Given the description of an element on the screen output the (x, y) to click on. 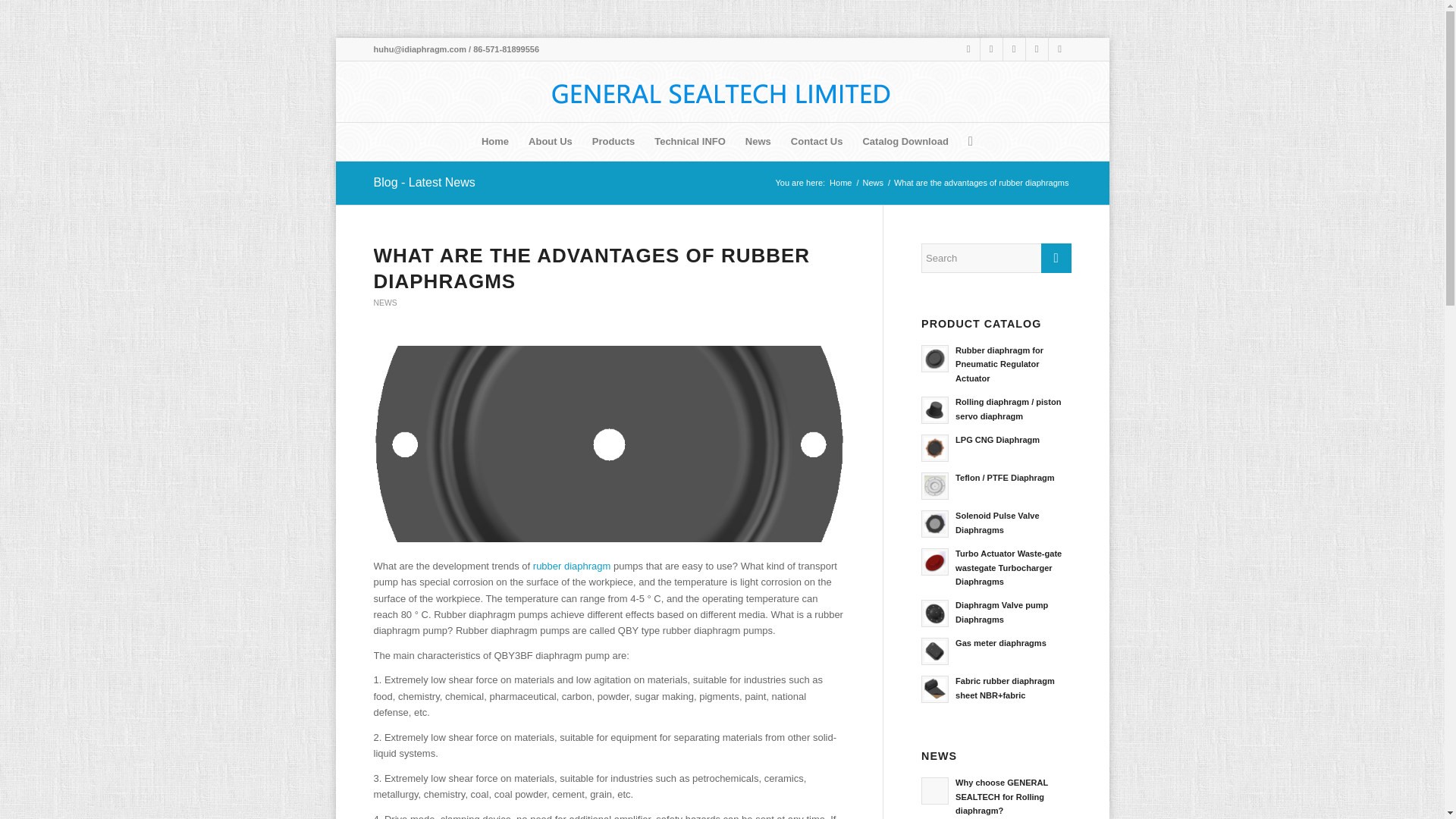
Products (613, 141)
Technical INFO (690, 141)
Permanent Link: Blog - Latest News (423, 182)
About Us (550, 141)
Home (494, 141)
